Given the description of an element on the screen output the (x, y) to click on. 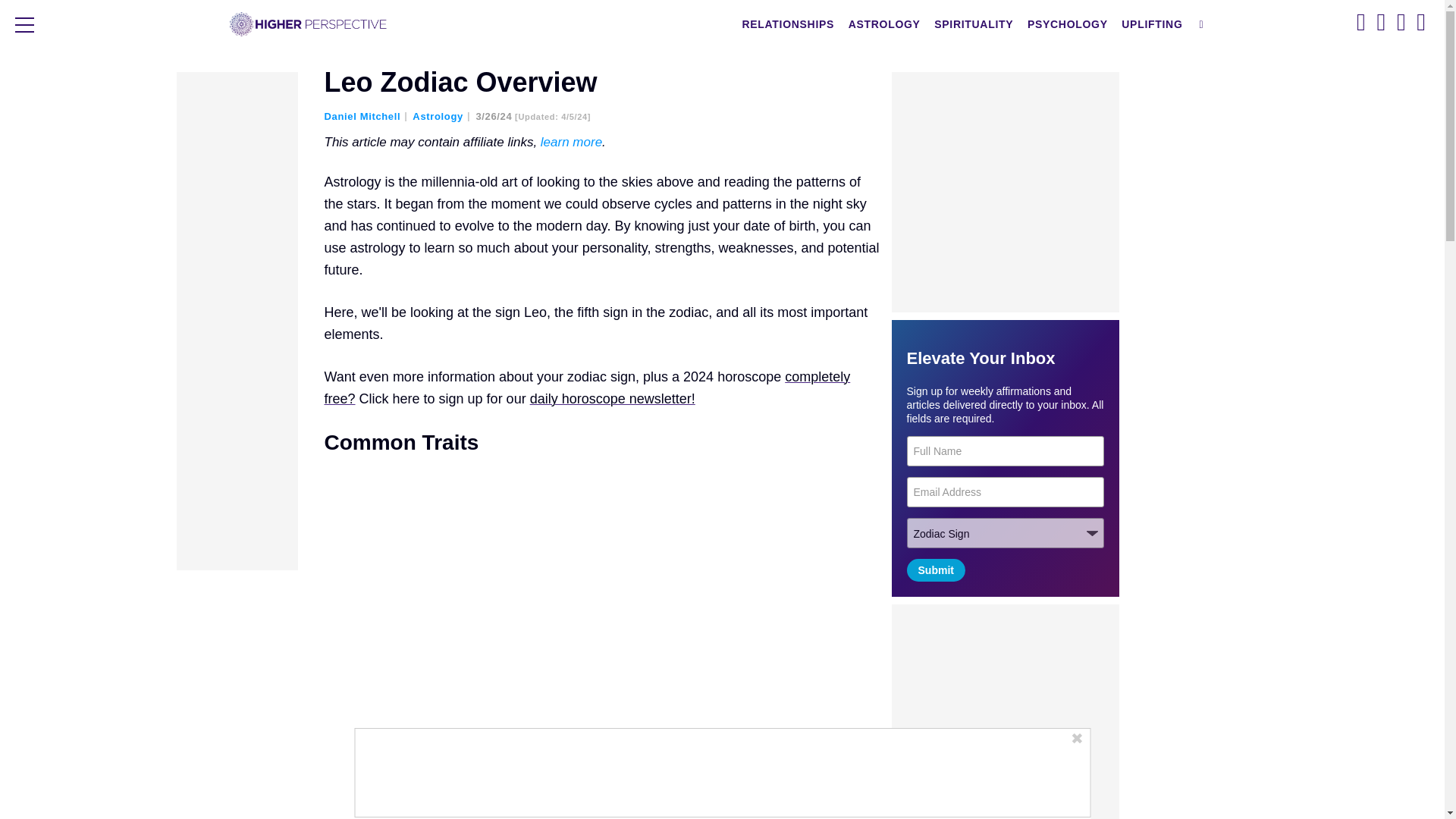
Astrology (441, 116)
SPIRITUALITY (972, 24)
ASTROLOGY (884, 24)
learn more (571, 142)
Posts by Daniel Mitchell (367, 116)
daily horoscope newsletter! (612, 398)
PSYCHOLOGY (1067, 24)
RELATIONSHIPS (788, 24)
Daniel Mitchell (367, 116)
UPLIFTING (1152, 24)
